Given the description of an element on the screen output the (x, y) to click on. 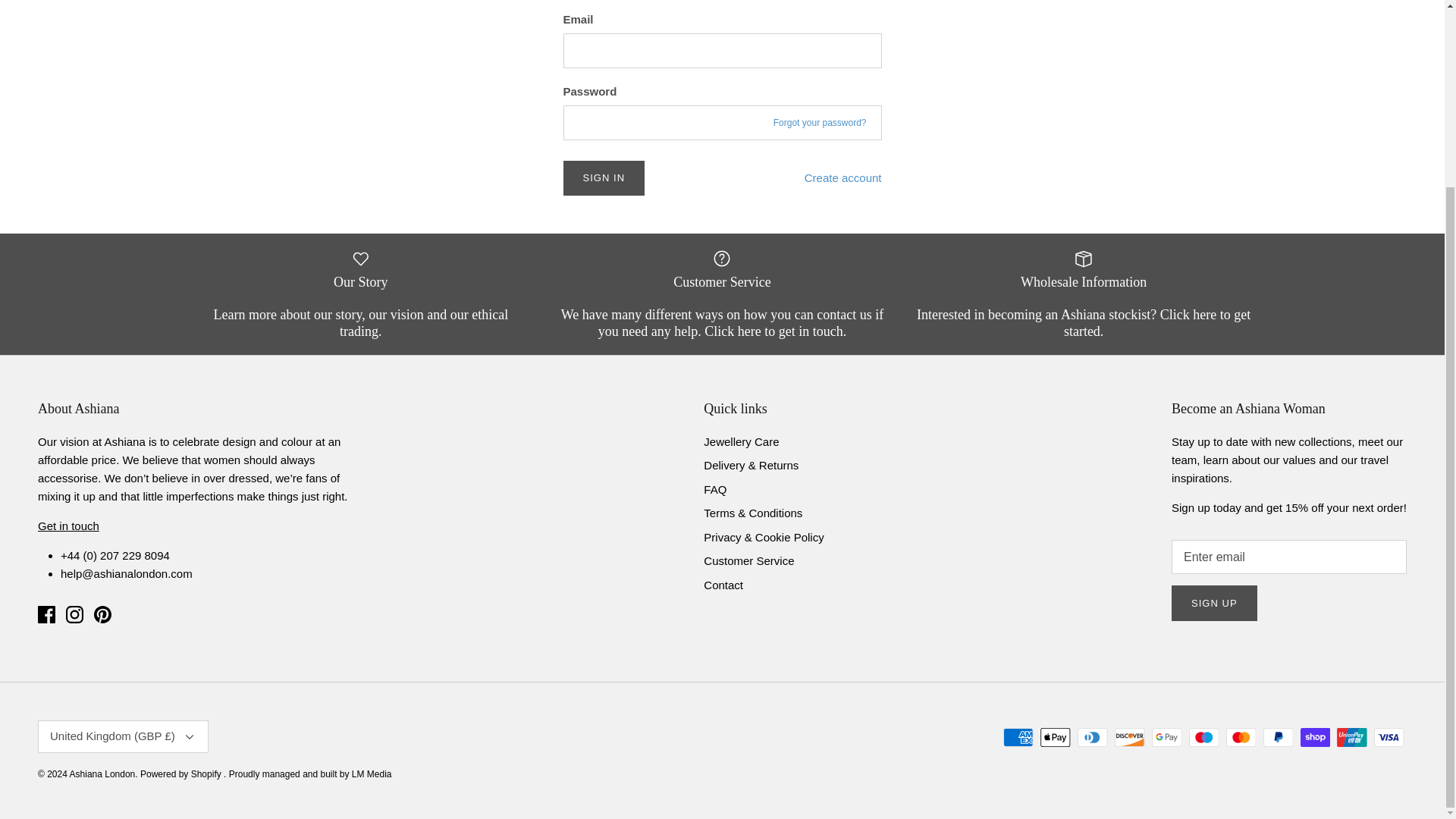
PayPal (1277, 737)
American Express (1018, 737)
Instagram (73, 614)
Google Pay (1166, 737)
Diners Club (1092, 737)
Discover (1129, 737)
Facebook (46, 614)
Apple Pay (1055, 737)
Maestro (1203, 737)
Pinterest (103, 614)
